Given the description of an element on the screen output the (x, y) to click on. 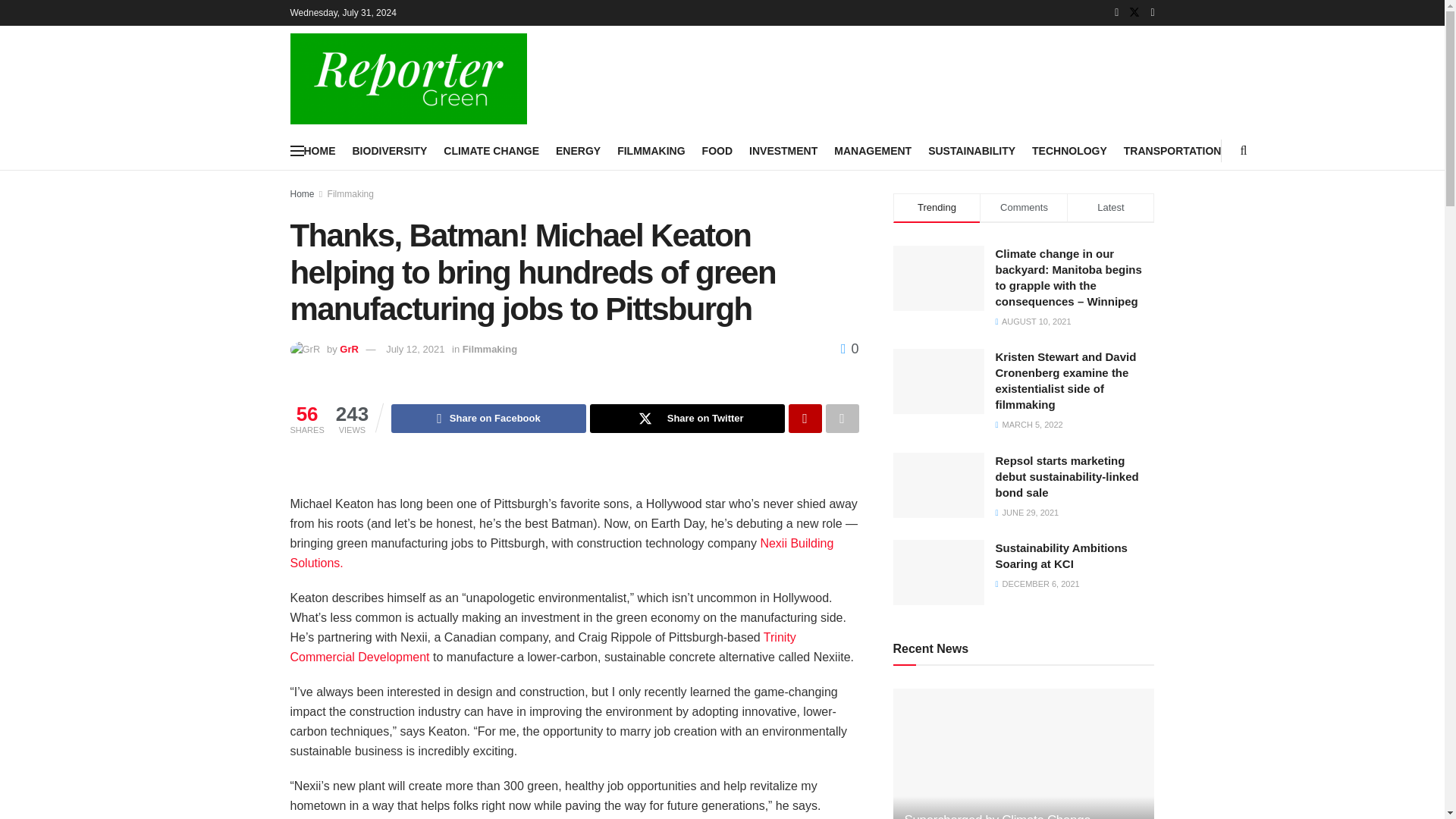
MANAGEMENT (872, 150)
July 12, 2021 (414, 348)
TECHNOLOGY (1069, 150)
ENERGY (577, 150)
Home (301, 194)
INVESTMENT (782, 150)
CLIMATE CHANGE (491, 150)
Filmmaking (350, 194)
GrR (348, 348)
SUSTAINABILITY (971, 150)
HOME (318, 150)
BIODIVERSITY (389, 150)
TRANSPORTATION (1172, 150)
FOOD (716, 150)
FILMMAKING (650, 150)
